Given the description of an element on the screen output the (x, y) to click on. 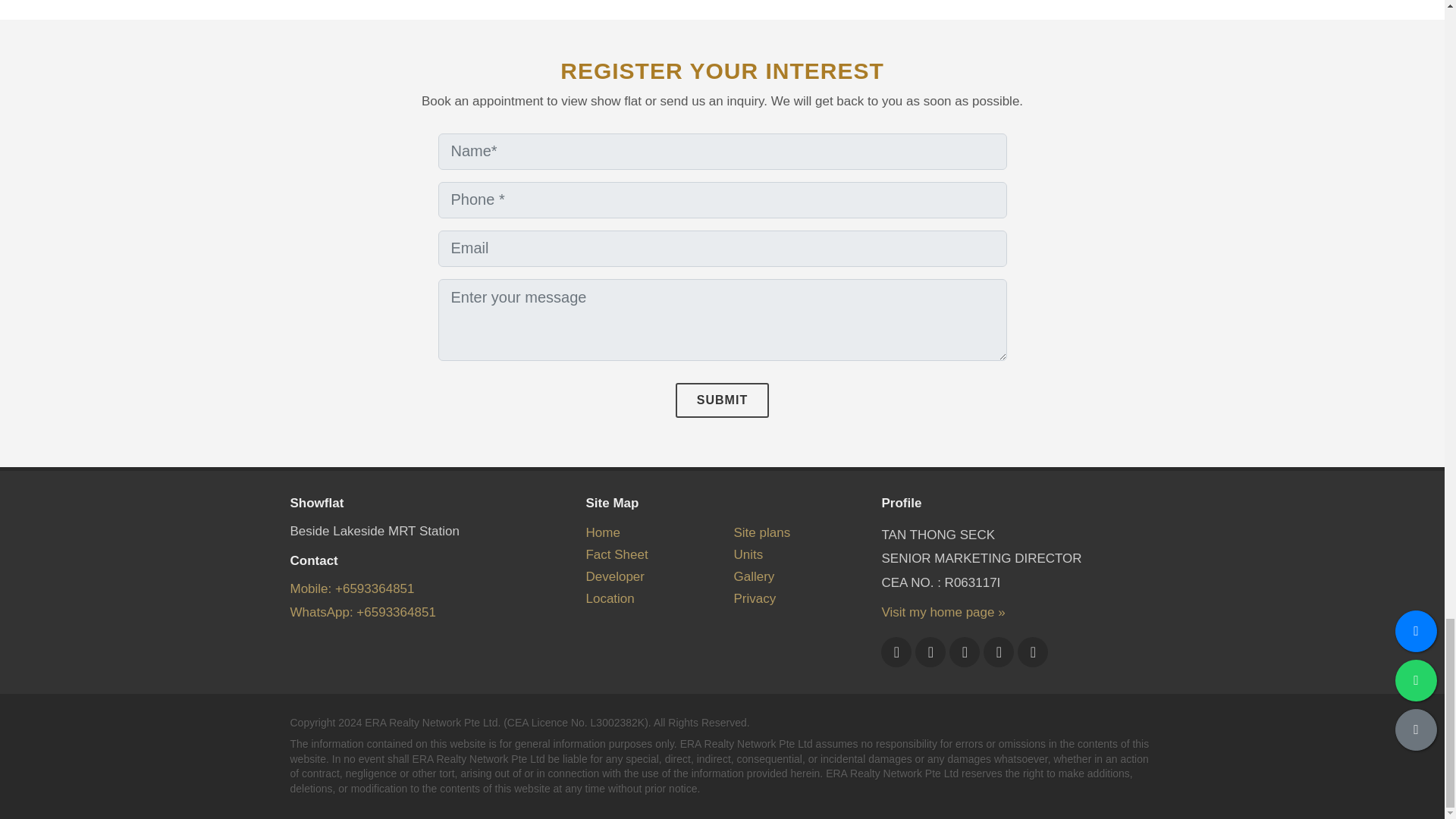
Fact Sheet (616, 554)
SUBMIT (721, 400)
Home (602, 532)
